Given the description of an element on the screen output the (x, y) to click on. 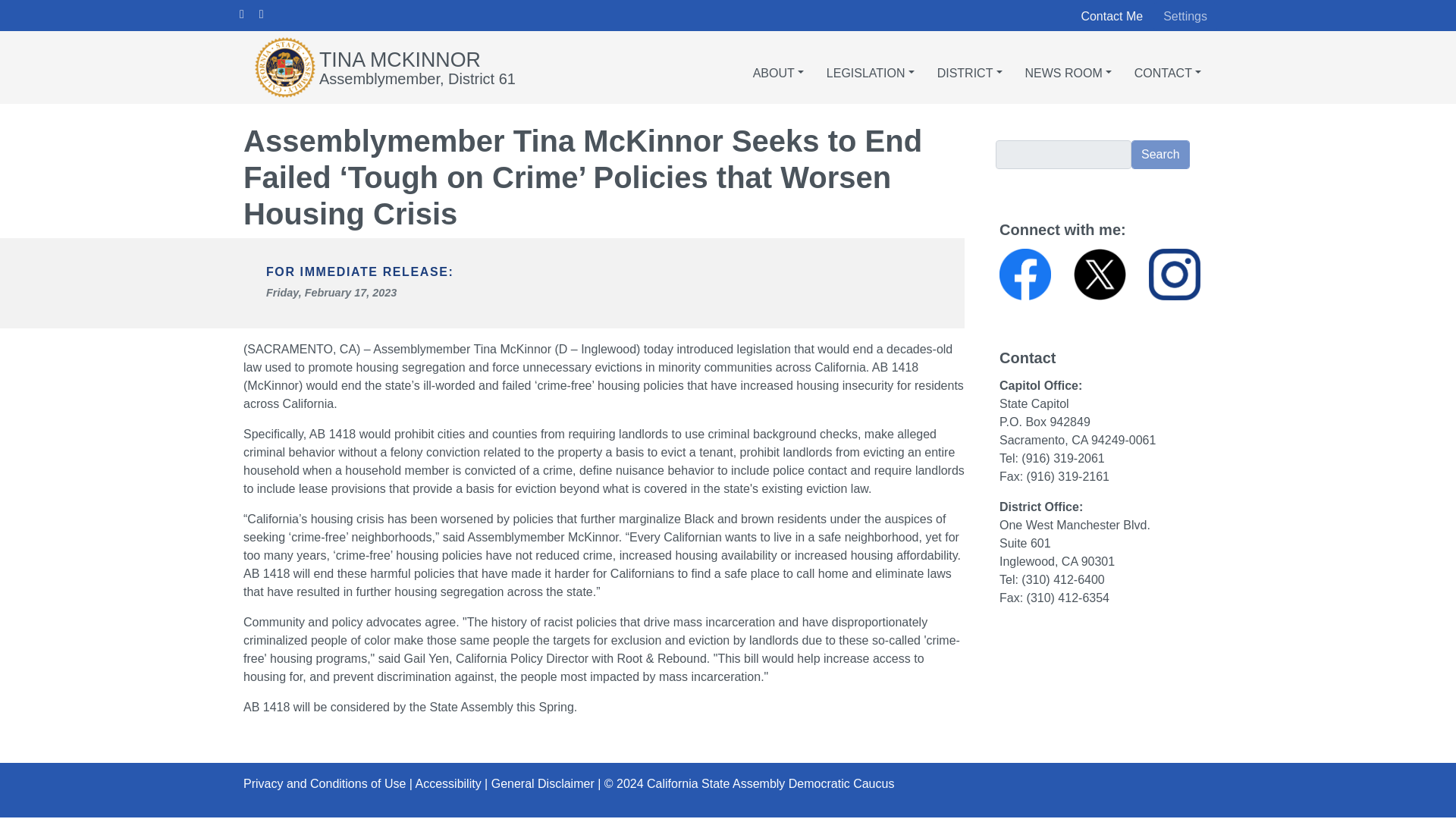
Home (286, 66)
TINA MCKINNOR (399, 59)
General Disclaimer (543, 783)
Settings (1185, 16)
Accessibility (447, 783)
Enter the terms you wish to search for. (1063, 154)
Home (399, 59)
Search (1160, 154)
Privacy and Conditions of Use (324, 783)
Contact Me (1111, 15)
Search (1160, 154)
